Given the description of an element on the screen output the (x, y) to click on. 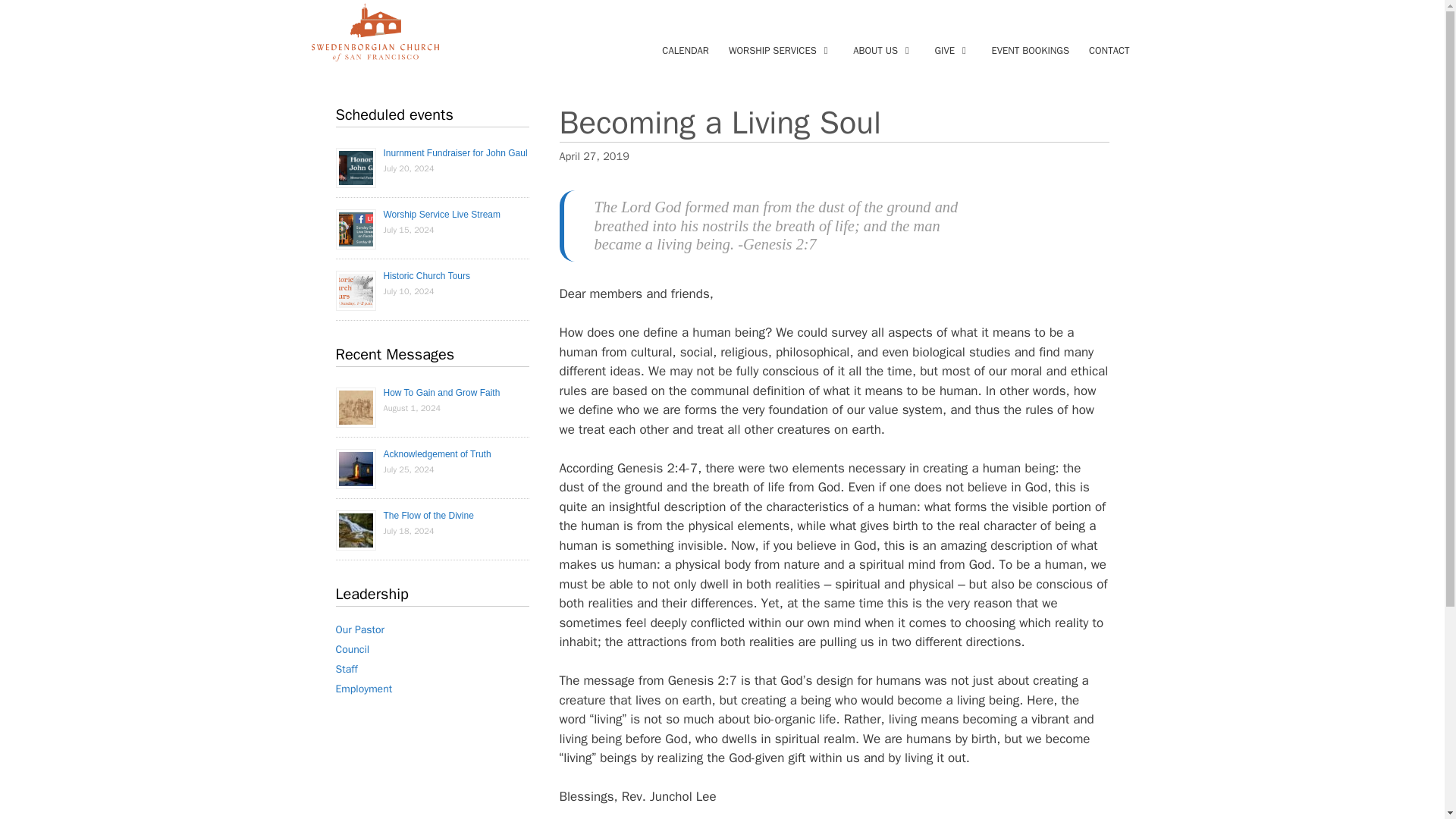
CALENDAR (685, 50)
CONTACT (1109, 50)
ABOUT US (883, 50)
WORSHIP SERVICES (781, 50)
EVENT BOOKINGS (1029, 50)
GIVE (952, 50)
